Given the description of an element on the screen output the (x, y) to click on. 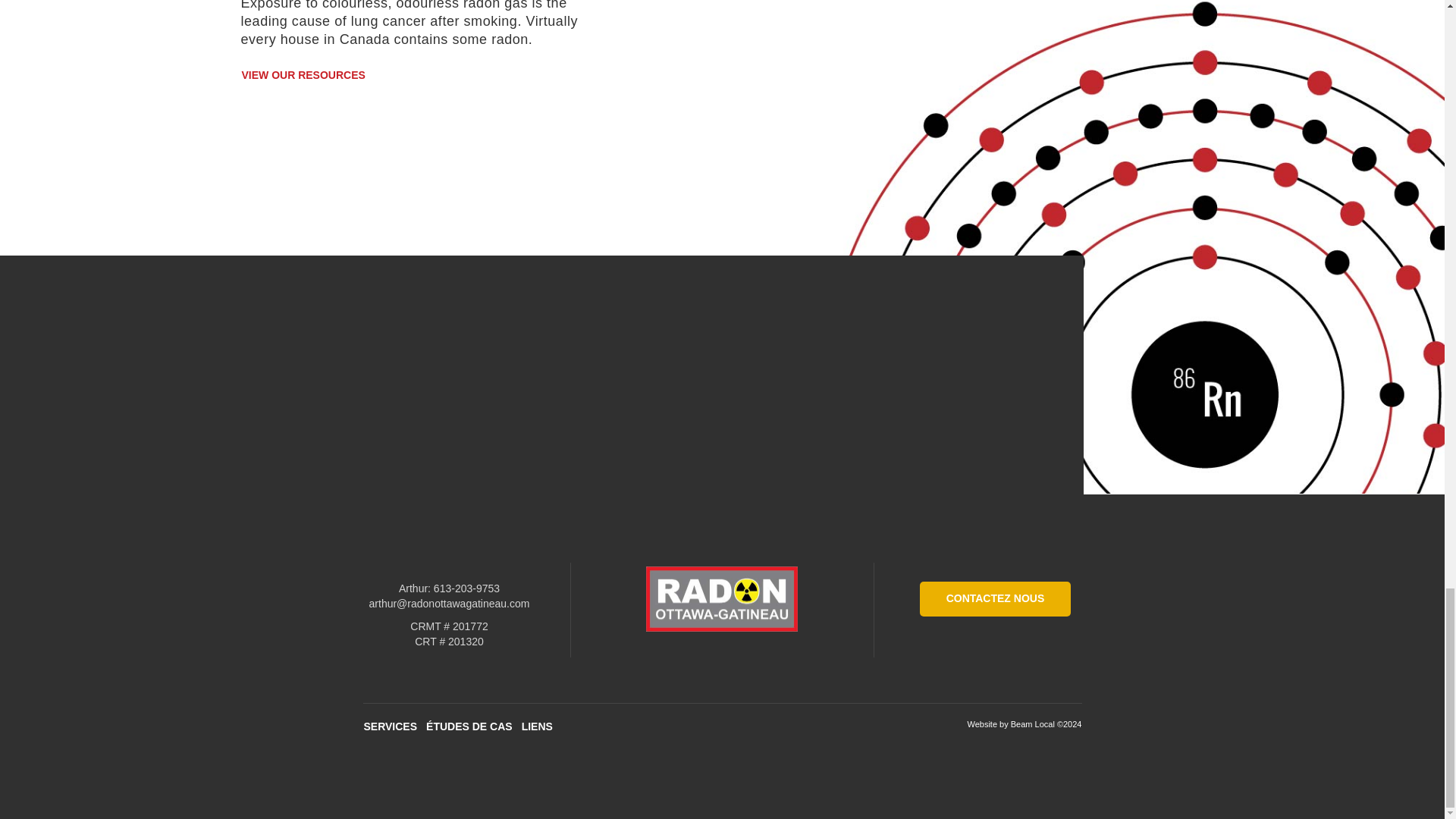
VIEW OUR RESOURCES (303, 75)
SERVICES (389, 727)
CONTACTEZ NOUS (995, 598)
613-203-9753 (466, 588)
